Given the description of an element on the screen output the (x, y) to click on. 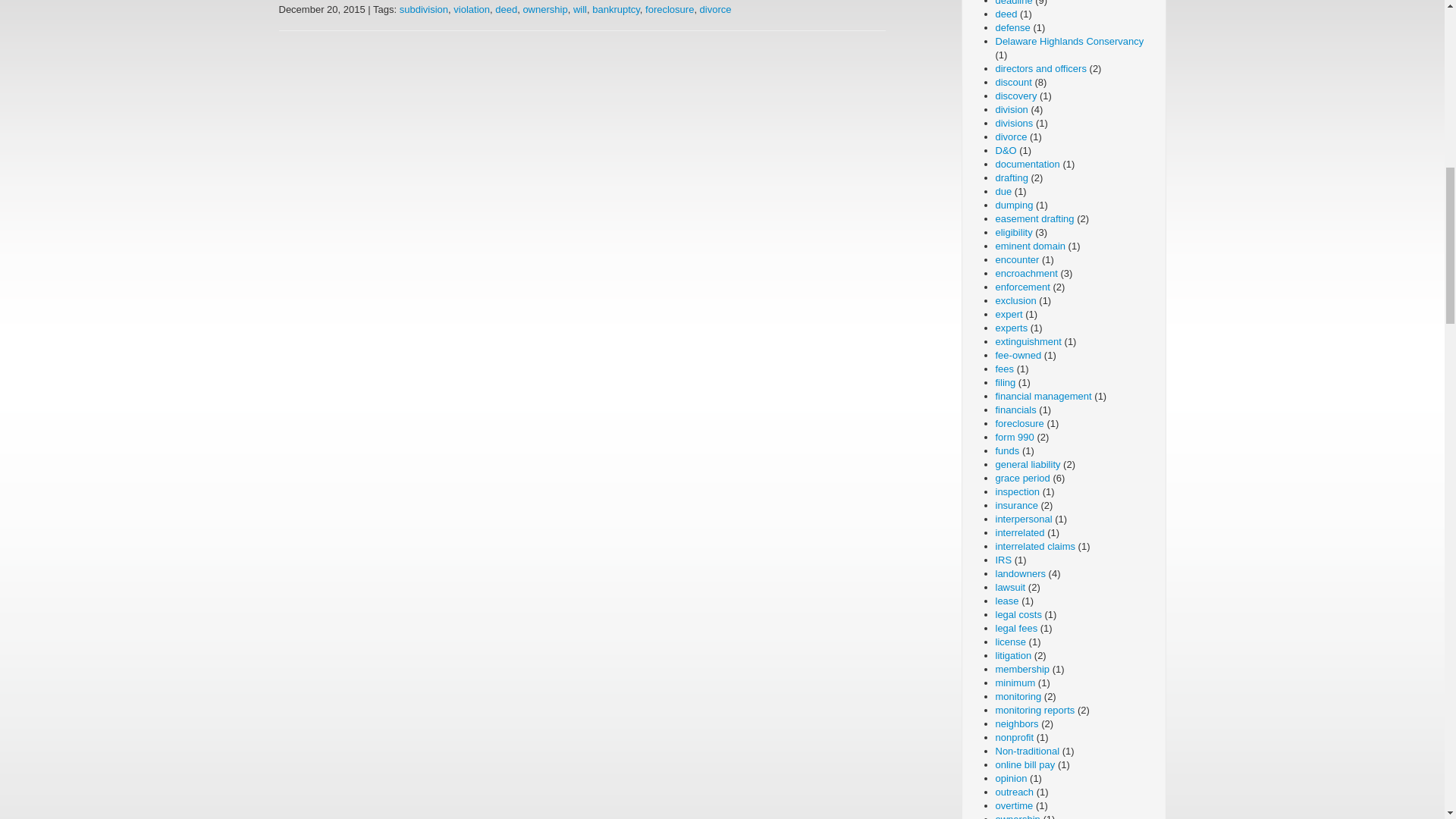
ownership (544, 9)
divorce (716, 9)
violation (470, 9)
will (579, 9)
subdivision (423, 9)
deed (505, 9)
foreclosure (669, 9)
bankruptcy (616, 9)
